Given the description of an element on the screen output the (x, y) to click on. 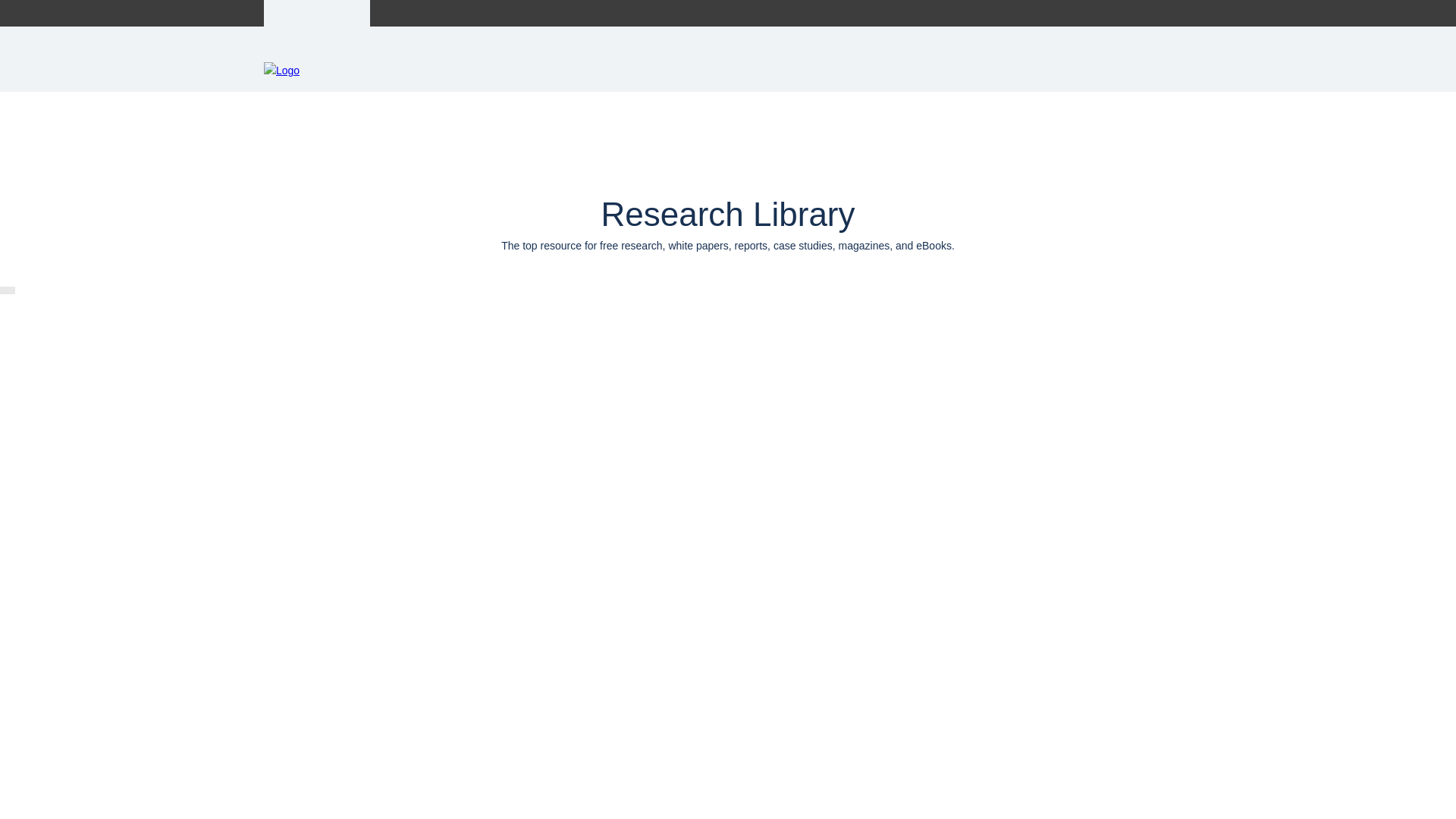
360Dx (410, 13)
GenomeWeb (316, 13)
Precision Oncology News (505, 13)
